Given the description of an element on the screen output the (x, y) to click on. 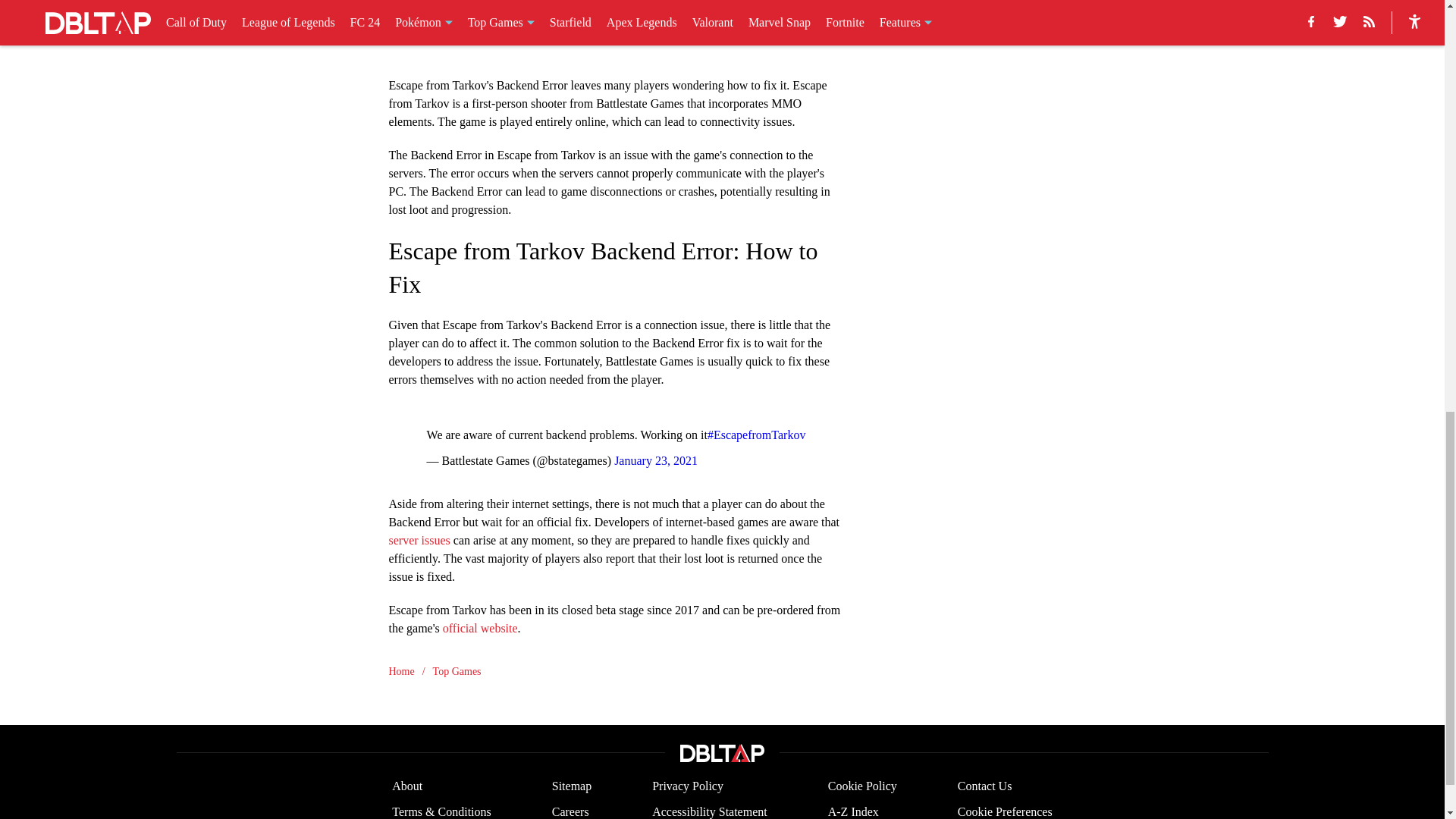
Home (400, 670)
Privacy Policy (687, 786)
official website (480, 626)
About (406, 786)
Sitemap (571, 786)
Top Games (456, 670)
January 23, 2021 (655, 460)
server issues (418, 539)
